Given the description of an element on the screen output the (x, y) to click on. 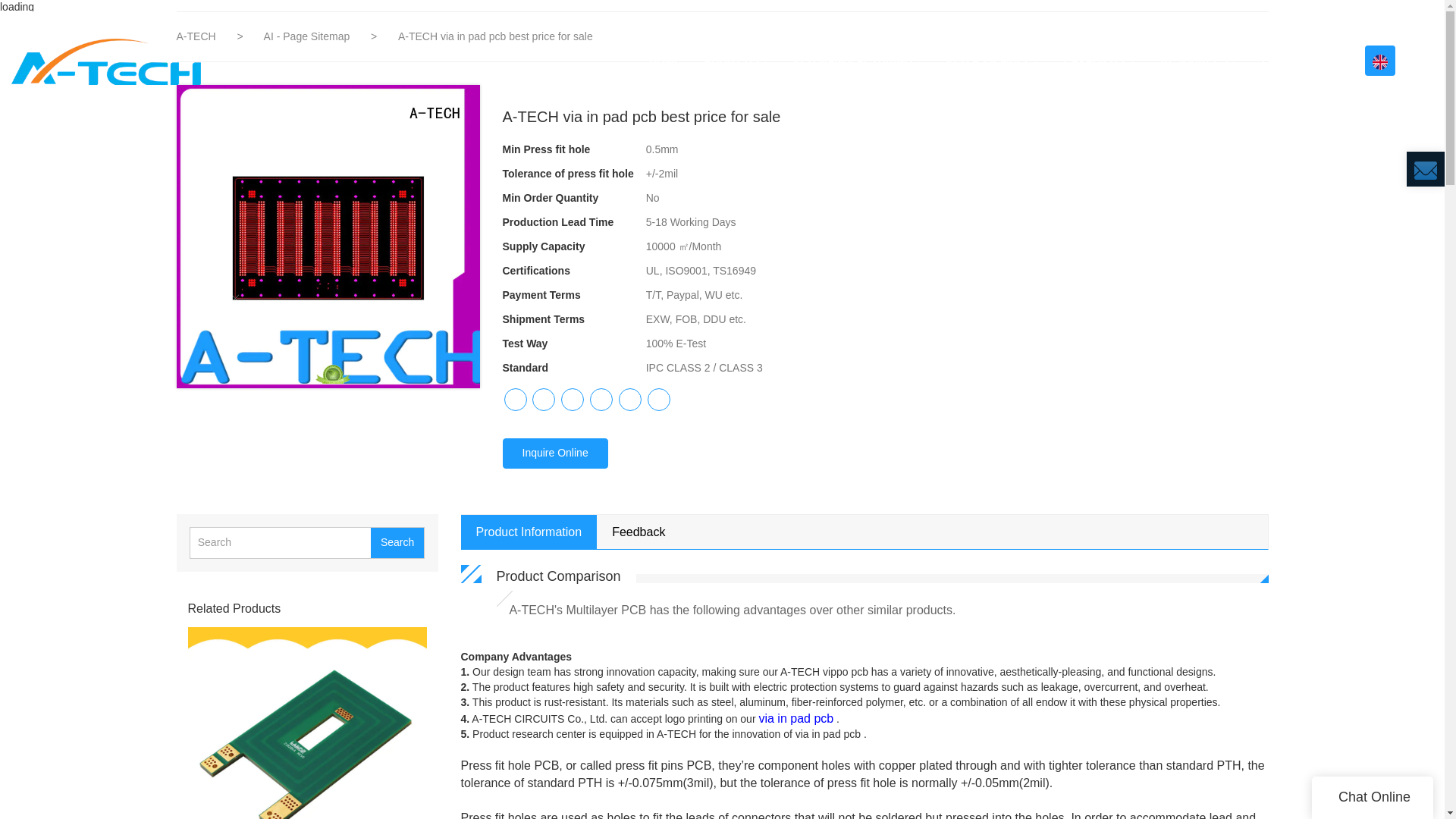
A-TECH (197, 36)
CONTACT US (1296, 60)
ABOUT US (737, 60)
PCB MANUFACTURING (857, 60)
AI - Page Sitemap (308, 36)
CAPABILITY (1101, 60)
PCB ASSEMBLY (992, 60)
RESOURCES (1200, 60)
